Given the description of an element on the screen output the (x, y) to click on. 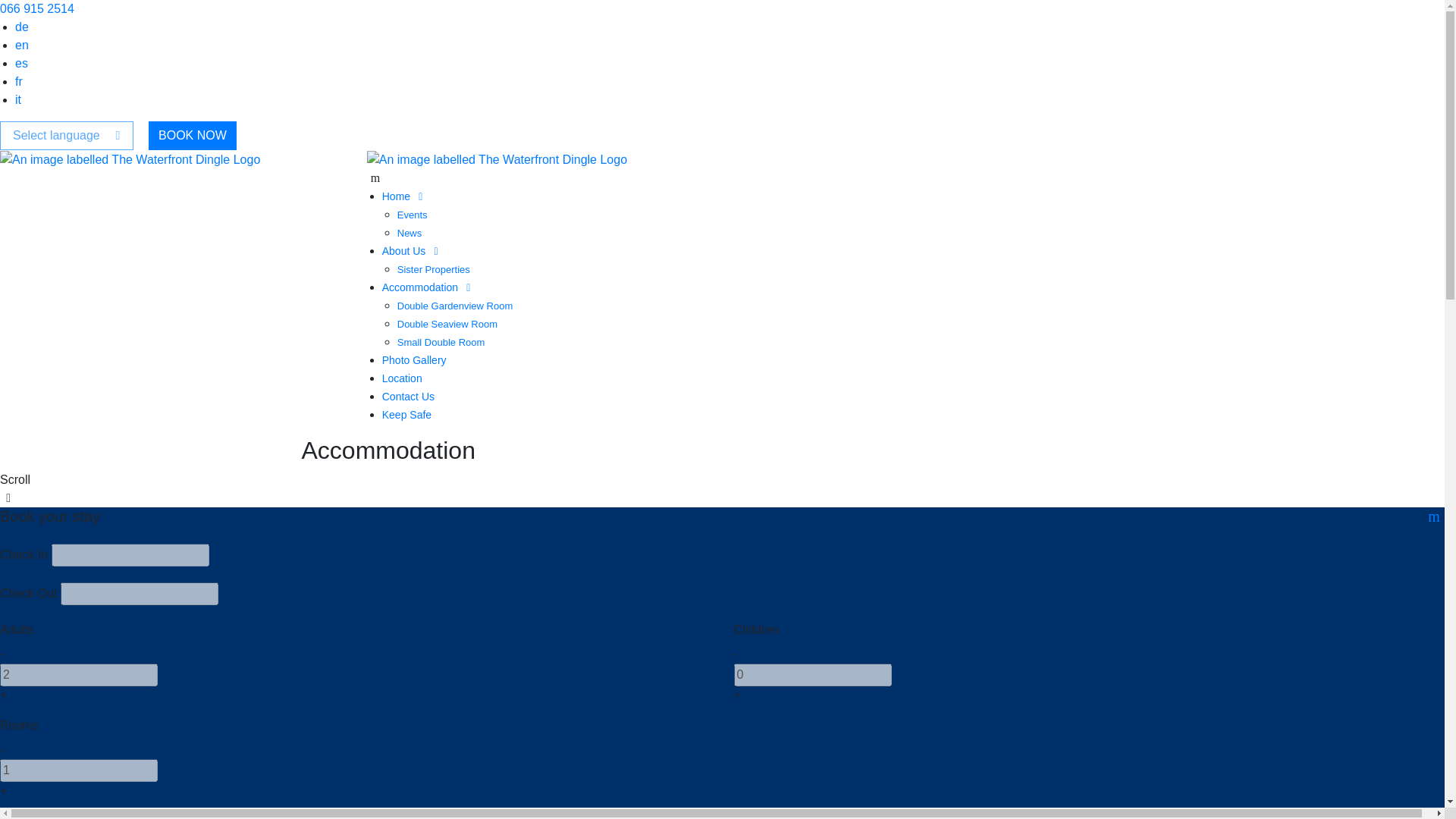
066 915 2514 (37, 8)
About Us (412, 250)
Events (412, 214)
Scroll (722, 488)
News (409, 233)
Photo Gallery (413, 359)
Location (401, 378)
Double Seaview Room (447, 324)
Accommodation (428, 287)
es (20, 62)
1 (78, 770)
2 (78, 674)
Select language (66, 135)
0 (812, 674)
Contact Us (407, 396)
